Given the description of an element on the screen output the (x, y) to click on. 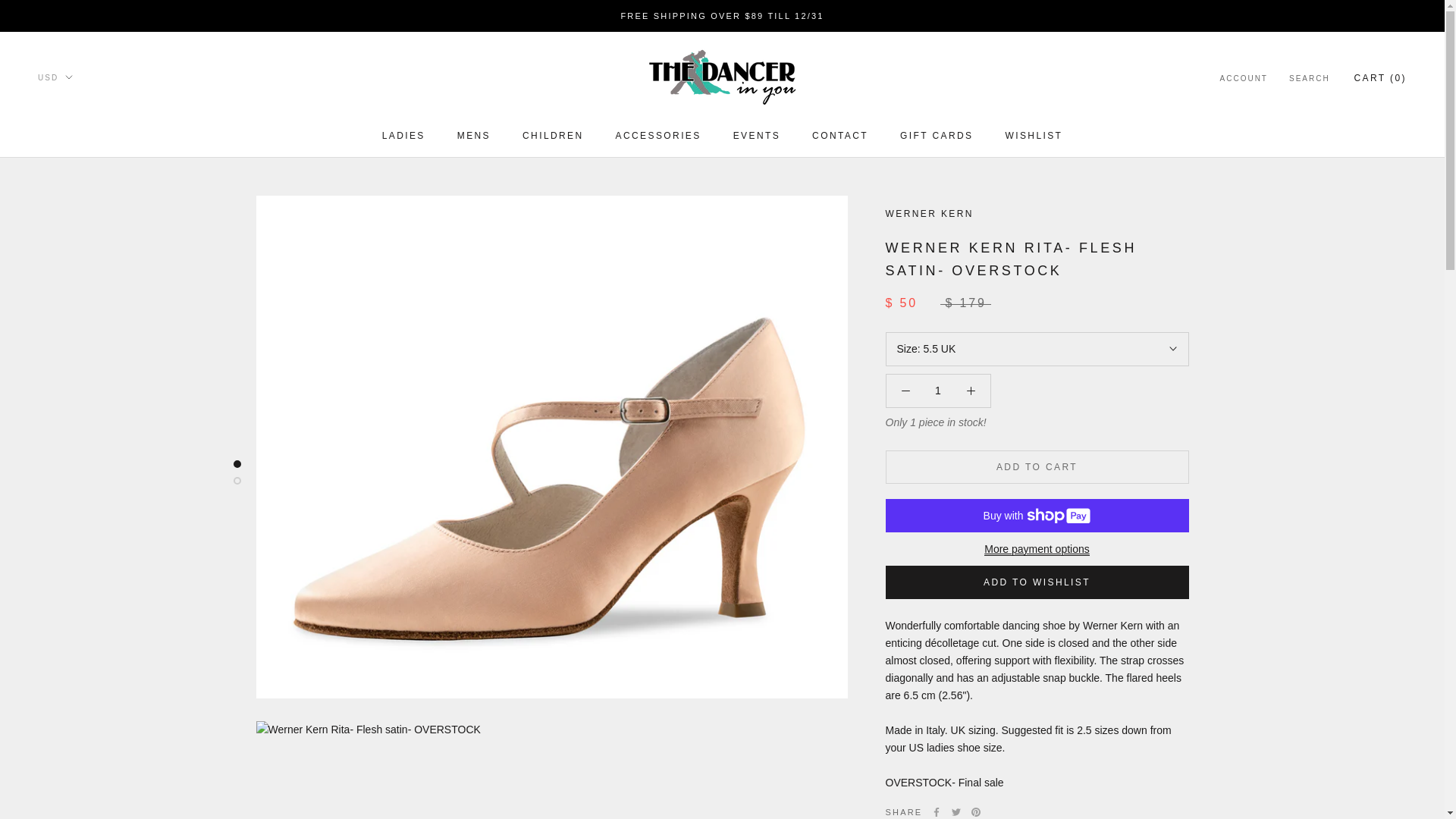
LADIES (403, 135)
1 (938, 390)
Add to Wishlist (1037, 581)
MENS (473, 135)
Currency selector (54, 77)
